Given the description of an element on the screen output the (x, y) to click on. 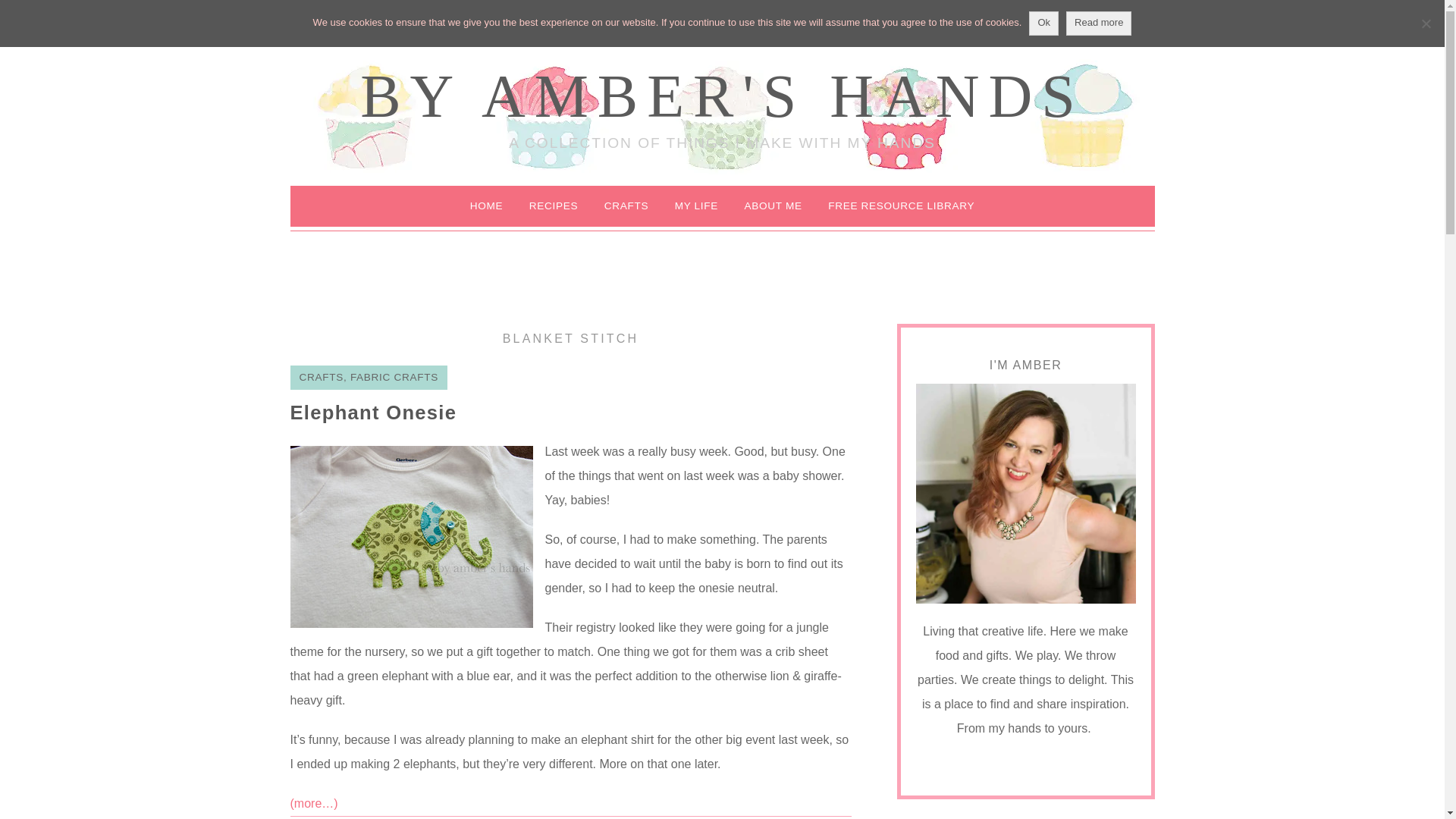
No (1425, 23)
ABOUT ME (772, 205)
FABRIC CRAFTS (394, 377)
FREE RESOURCE LIBRARY (900, 205)
HOME (486, 205)
CRAFTS (625, 205)
MY LIFE (696, 205)
Elephant Onesie (373, 412)
RECIPES (553, 205)
CRAFTS (320, 377)
BY AMBER'S HANDS (721, 96)
